Given the description of an element on the screen output the (x, y) to click on. 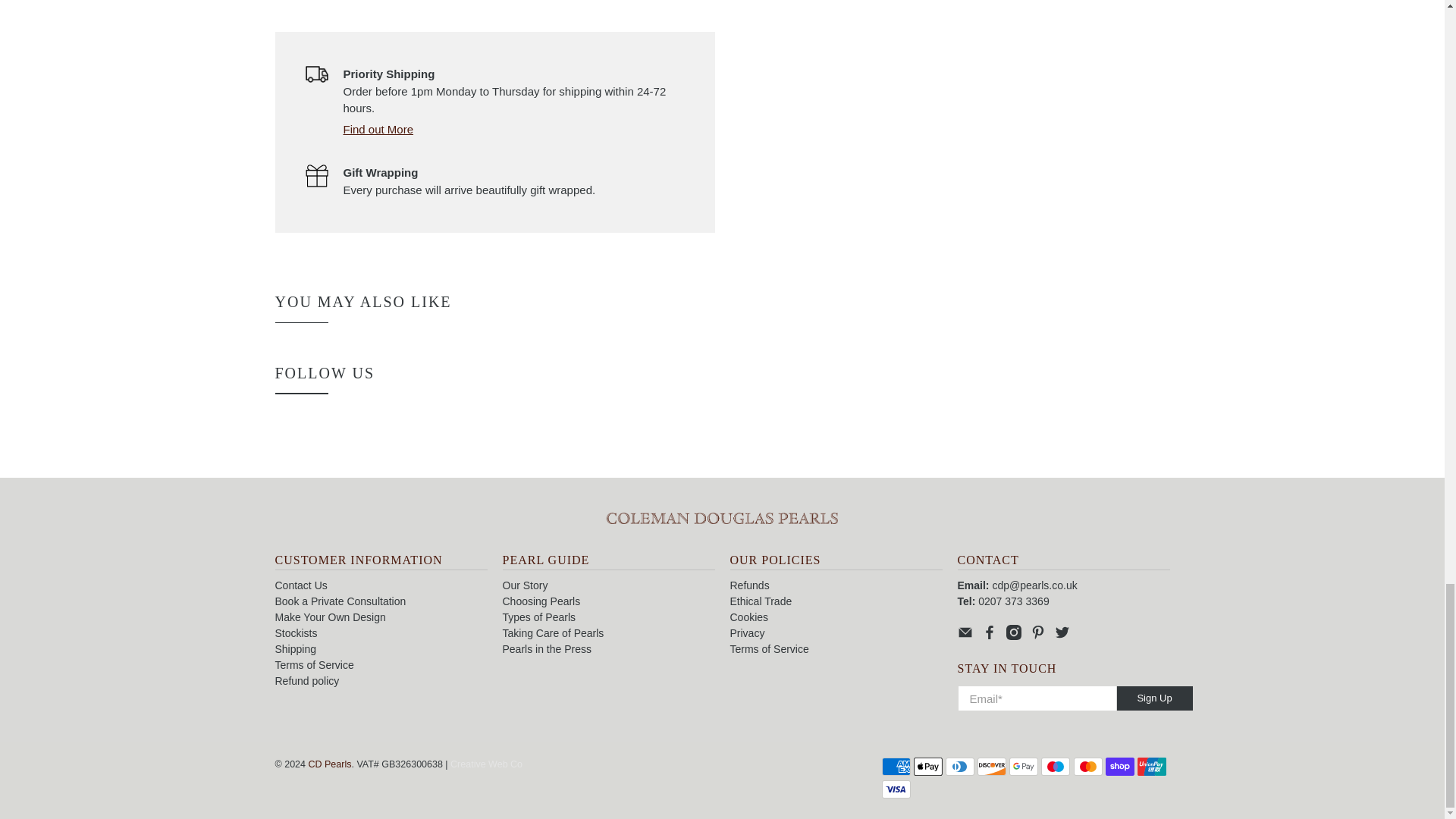
Diners Club (959, 766)
American Express (895, 766)
Apple Pay (928, 766)
